Given the description of an element on the screen output the (x, y) to click on. 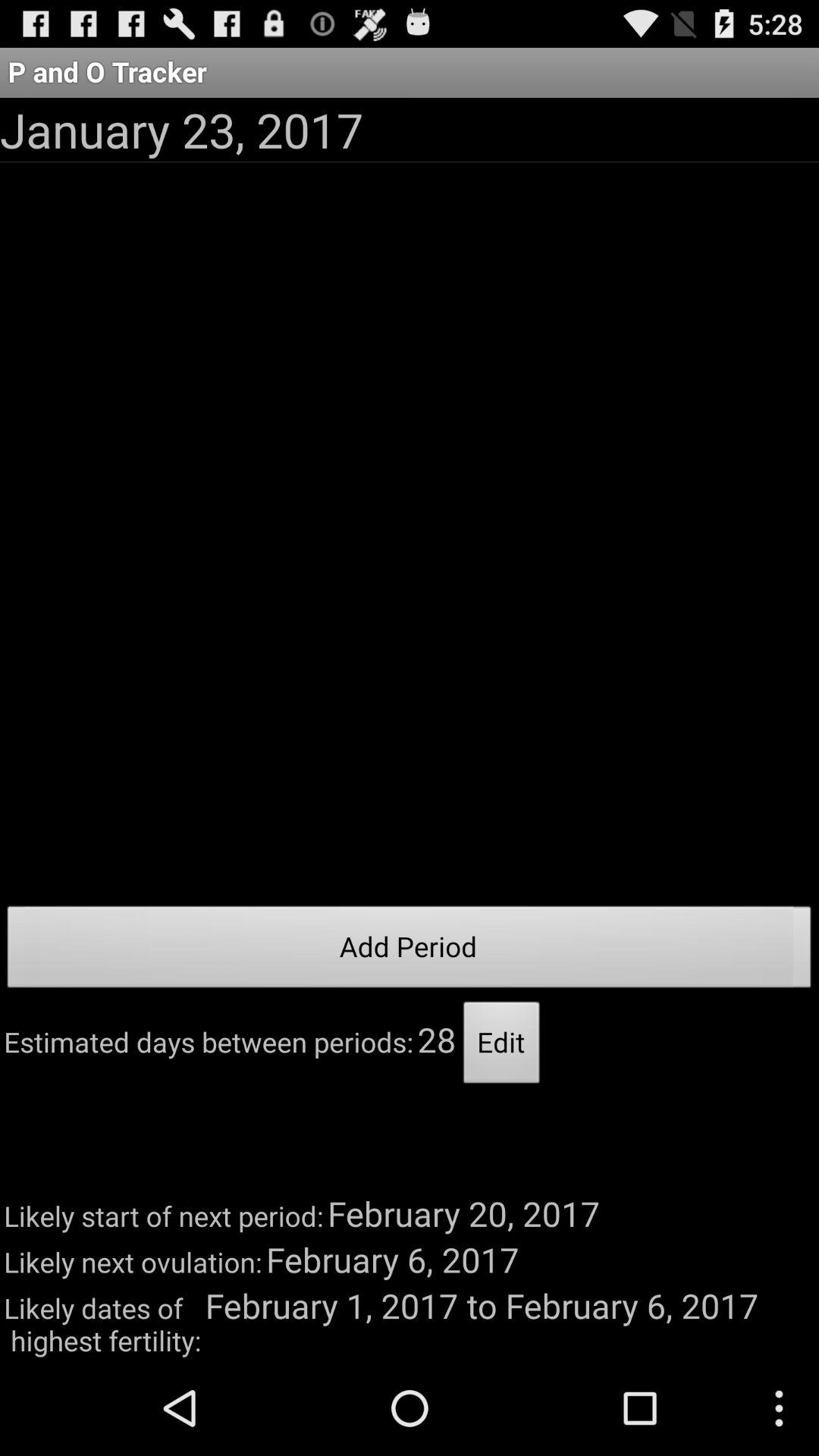
click icon at the center (409, 951)
